Given the description of an element on the screen output the (x, y) to click on. 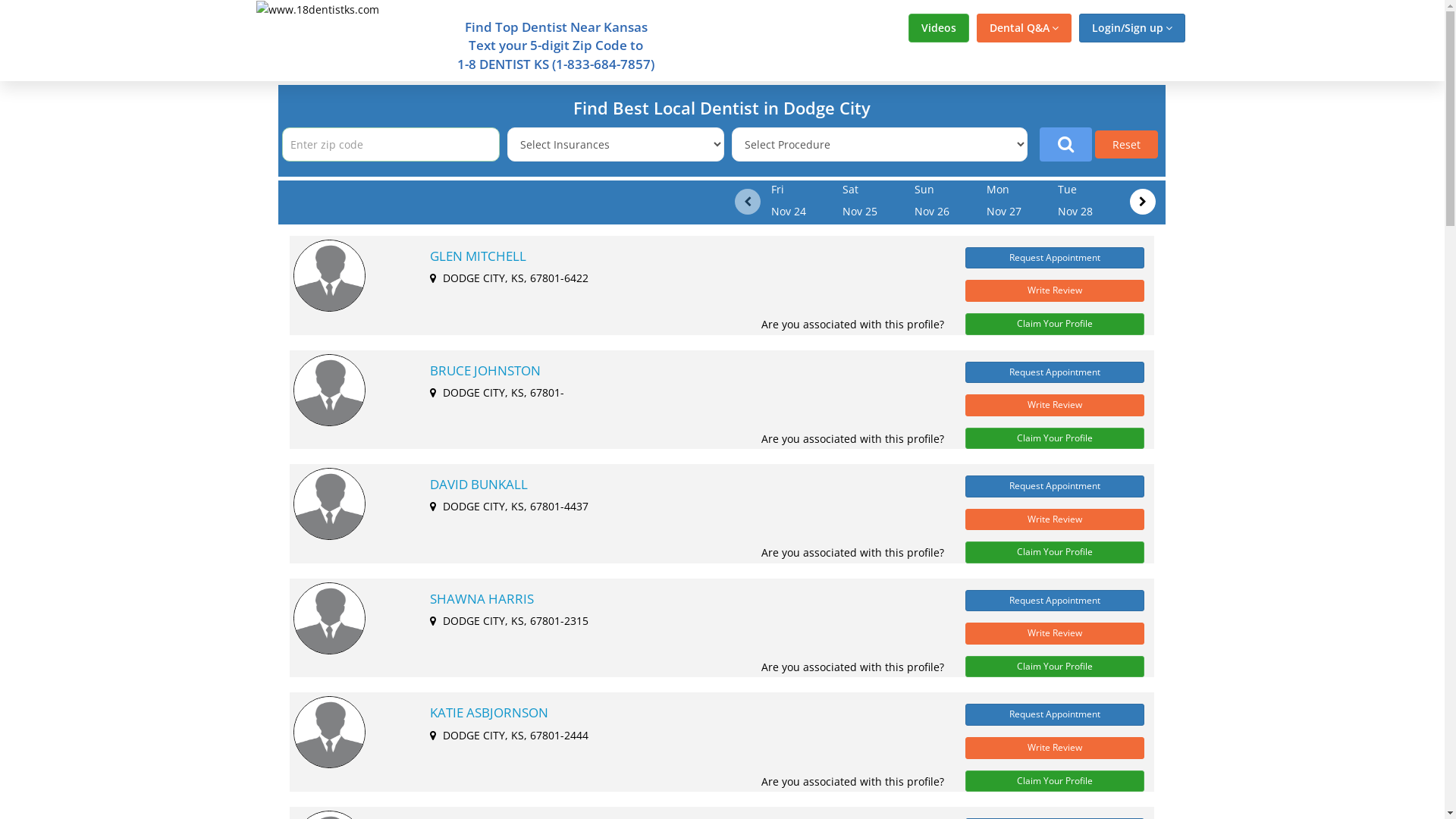
DAVID BUNKALL Element type: text (678, 484)
Login/Sign up Element type: text (1131, 27)
Claim Your Profile Element type: text (1054, 324)
Advertisement Element type: hover (1313, 308)
Request Appointment Element type: text (1054, 600)
Claim Your Profile Element type: text (1054, 438)
Claim Your Profile Element type: text (1054, 781)
SHAWNA HARRIS Element type: text (678, 598)
Write Review Element type: text (1054, 405)
Videos Element type: text (938, 27)
Write Review Element type: text (1054, 290)
Claim Your Profile Element type: text (1054, 552)
Advertisement Element type: hover (129, 308)
Write Review Element type: text (1054, 633)
BRUCE JOHNSTON Element type: text (678, 369)
Request Appointment Element type: text (1054, 371)
KATIE ASBJORNSON Element type: text (678, 712)
Claim Your Profile Element type: text (1054, 666)
Request Appointment Element type: text (1054, 258)
GLEN MITCHELL Element type: text (678, 256)
Request Appointment Element type: text (1054, 714)
Request Appointment Element type: text (1054, 486)
Write Review Element type: text (1054, 748)
Dental Q&A Element type: text (1023, 27)
Reset Element type: text (1126, 144)
Write Review Element type: text (1054, 519)
